Given the description of an element on the screen output the (x, y) to click on. 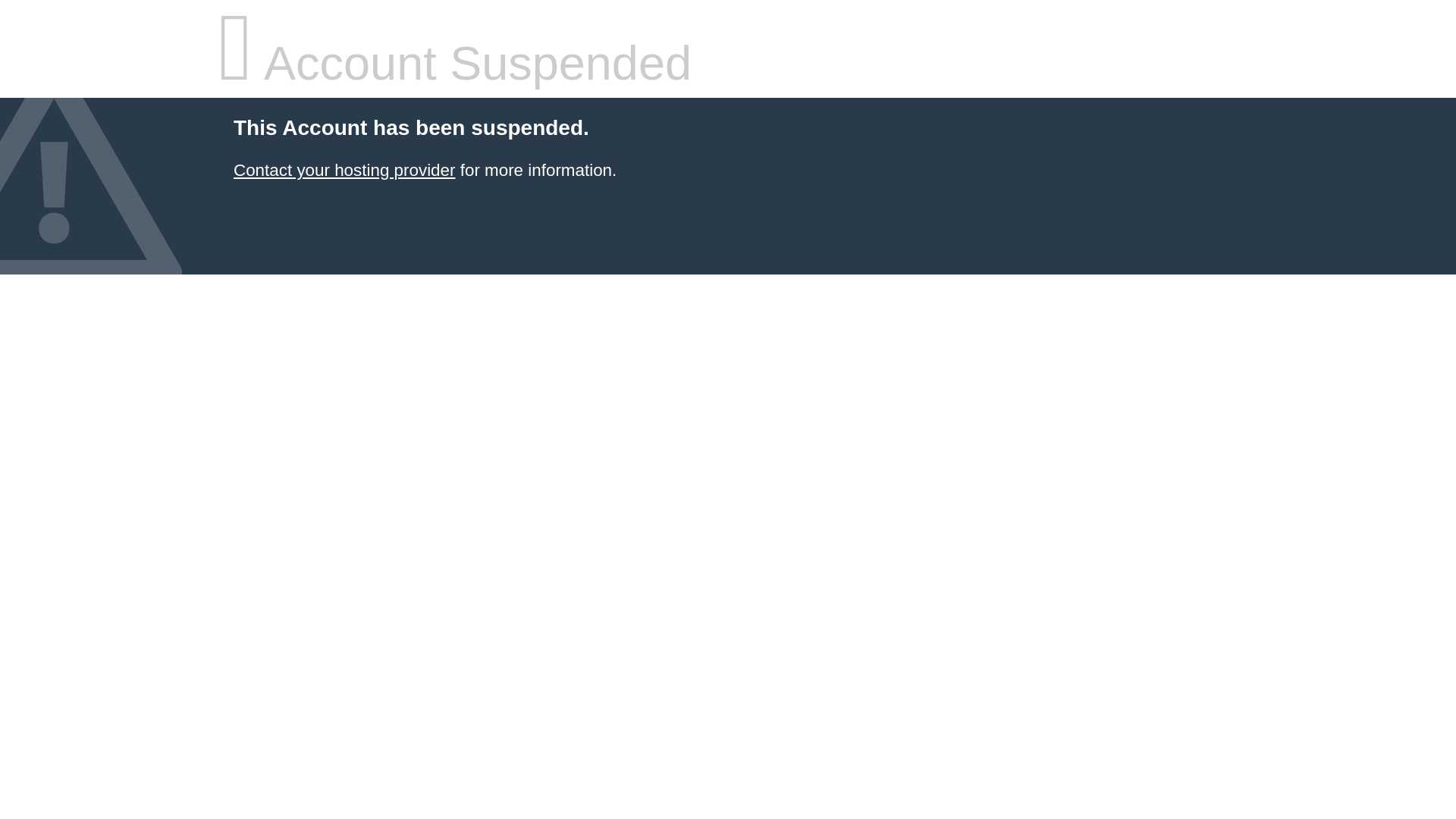
Contact your hosting provider (343, 169)
